Given the description of an element on the screen output the (x, y) to click on. 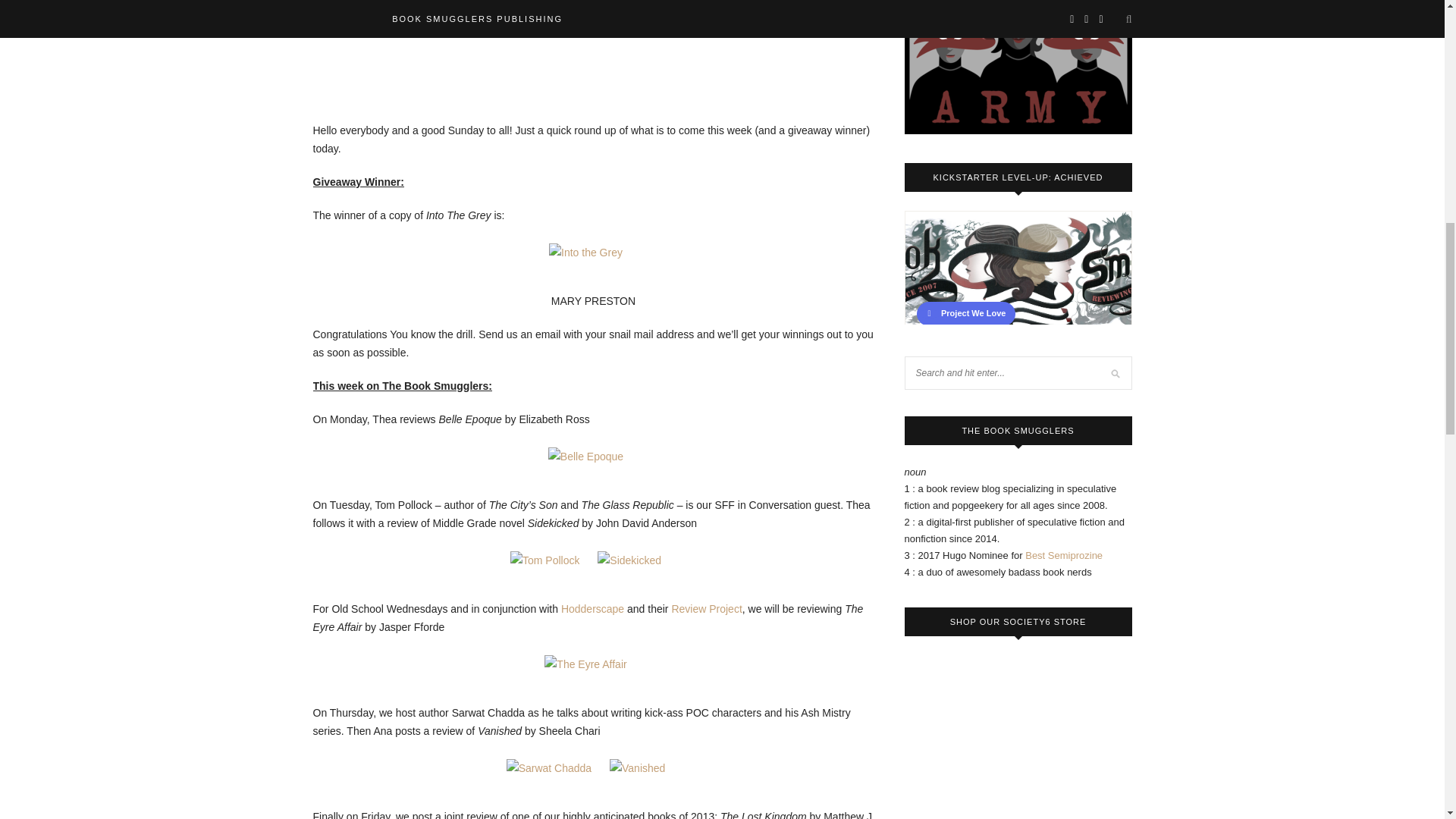
Hodderscape (592, 608)
Review Project (706, 608)
Best Semiprozine (1063, 555)
